Given the description of an element on the screen output the (x, y) to click on. 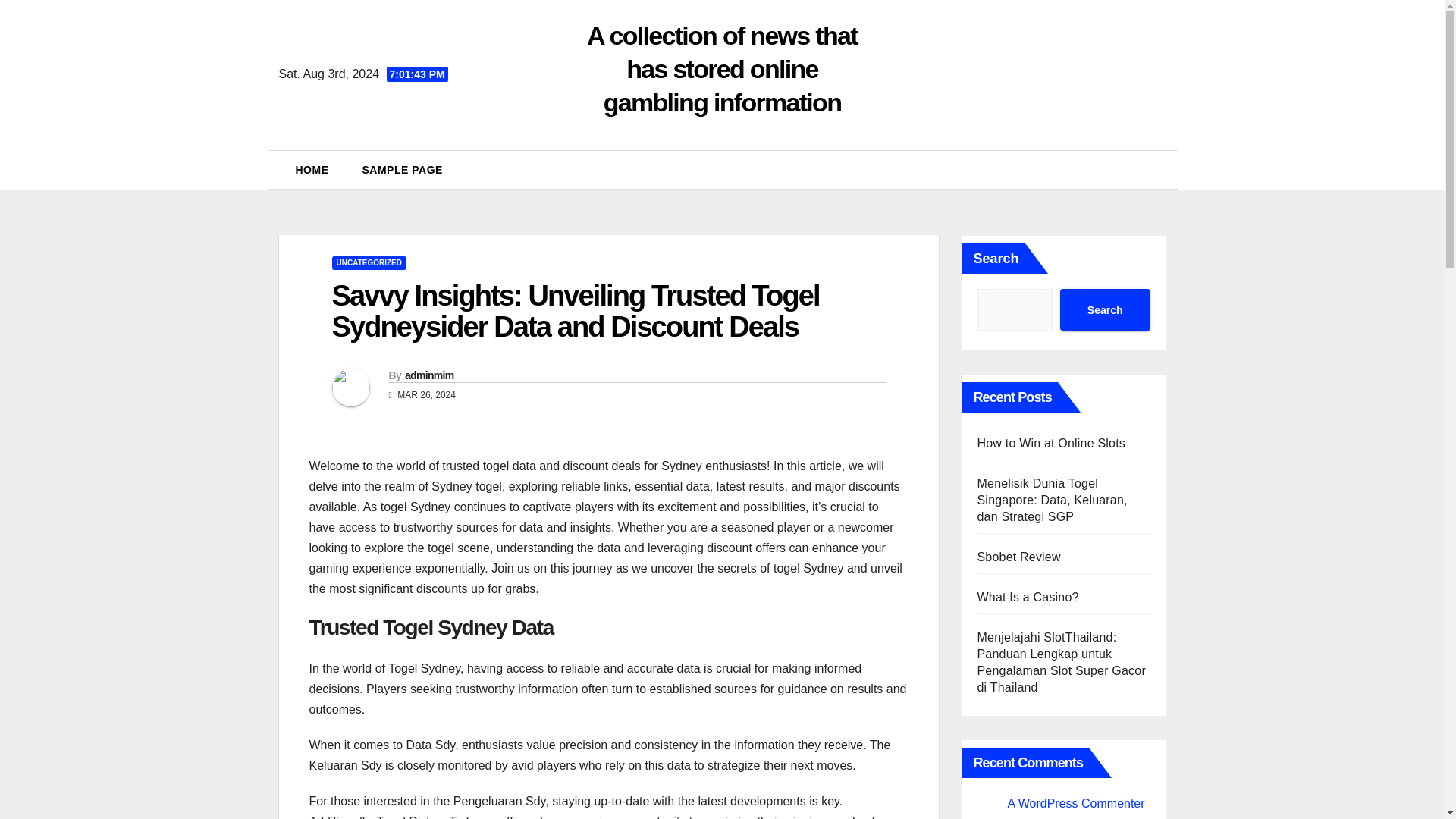
Sbobet Review (1017, 556)
SAMPLE PAGE (403, 169)
adminmim (428, 375)
Home (312, 169)
How to Win at Online Slots (1050, 442)
UNCATEGORIZED (368, 263)
What Is a Casino? (1027, 596)
HOME (312, 169)
Search (1104, 309)
